Given the description of an element on the screen output the (x, y) to click on. 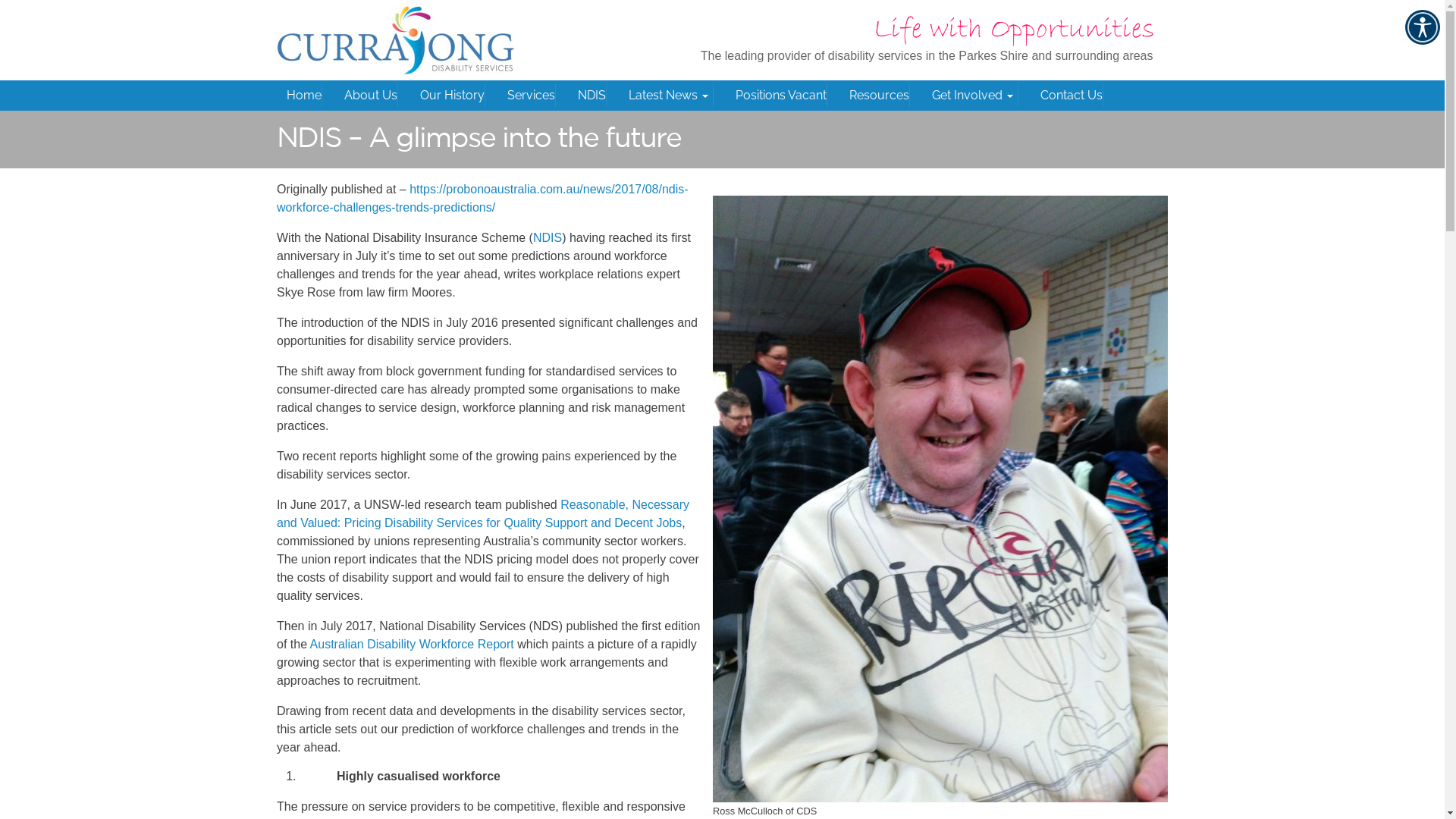
Home Element type: text (303, 95)
NDIS Element type: text (591, 95)
Our History Element type: text (452, 95)
Latest News Element type: text (669, 95)
Get Involved Element type: text (973, 95)
Resources Element type: text (879, 95)
Positions Vacant Element type: text (780, 95)
Contact Us Element type: text (1071, 95)
Services Element type: text (530, 95)
NDIS Element type: text (547, 236)
About Us Element type: text (370, 95)
 Australian Disability Workforce Report Element type: text (410, 643)
